Given the description of an element on the screen output the (x, y) to click on. 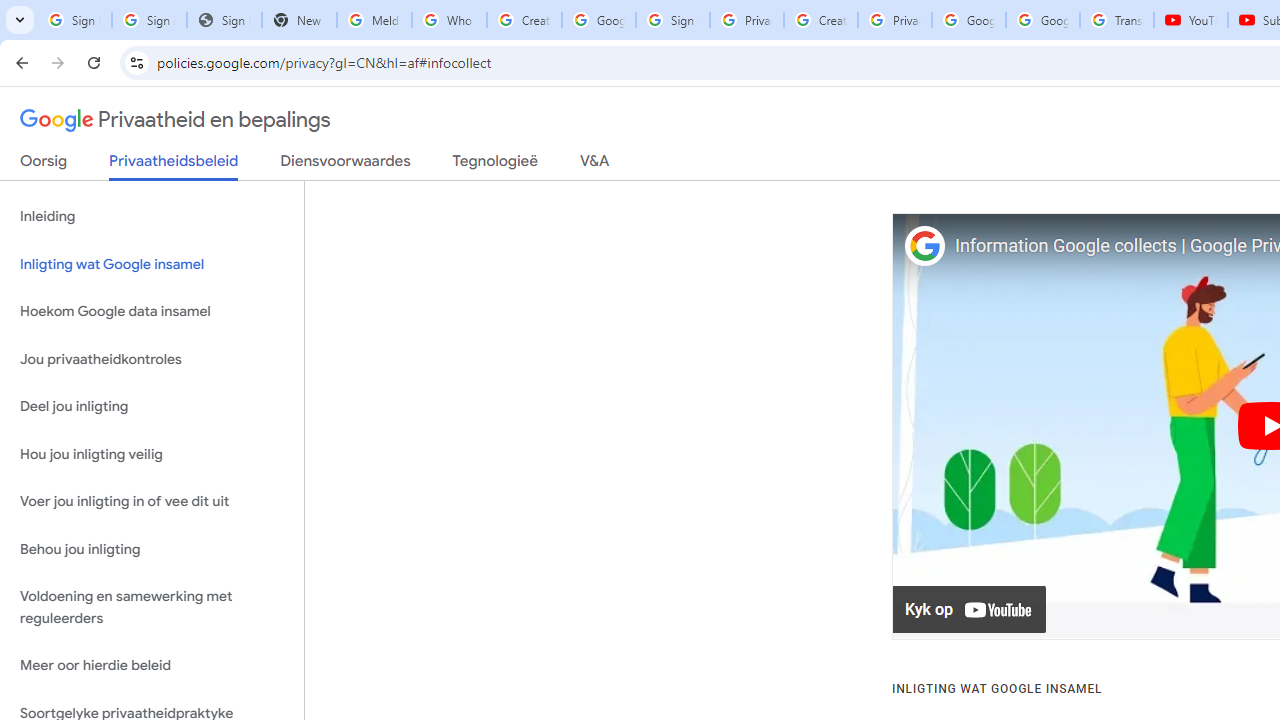
Hoekom Google data insamel (152, 312)
Kyk op YouTube (970, 610)
Sign In - USA TODAY (224, 20)
YouTube (1190, 20)
Voldoening en samewerking met reguleerders (152, 607)
Sign in - Google Accounts (148, 20)
Oorsig (43, 165)
Who is my administrator? - Google Account Help (449, 20)
Diensvoorwaardes (345, 165)
Privaatheid en bepalings (175, 120)
Privaatheidsbeleid (173, 166)
